Given the description of an element on the screen output the (x, y) to click on. 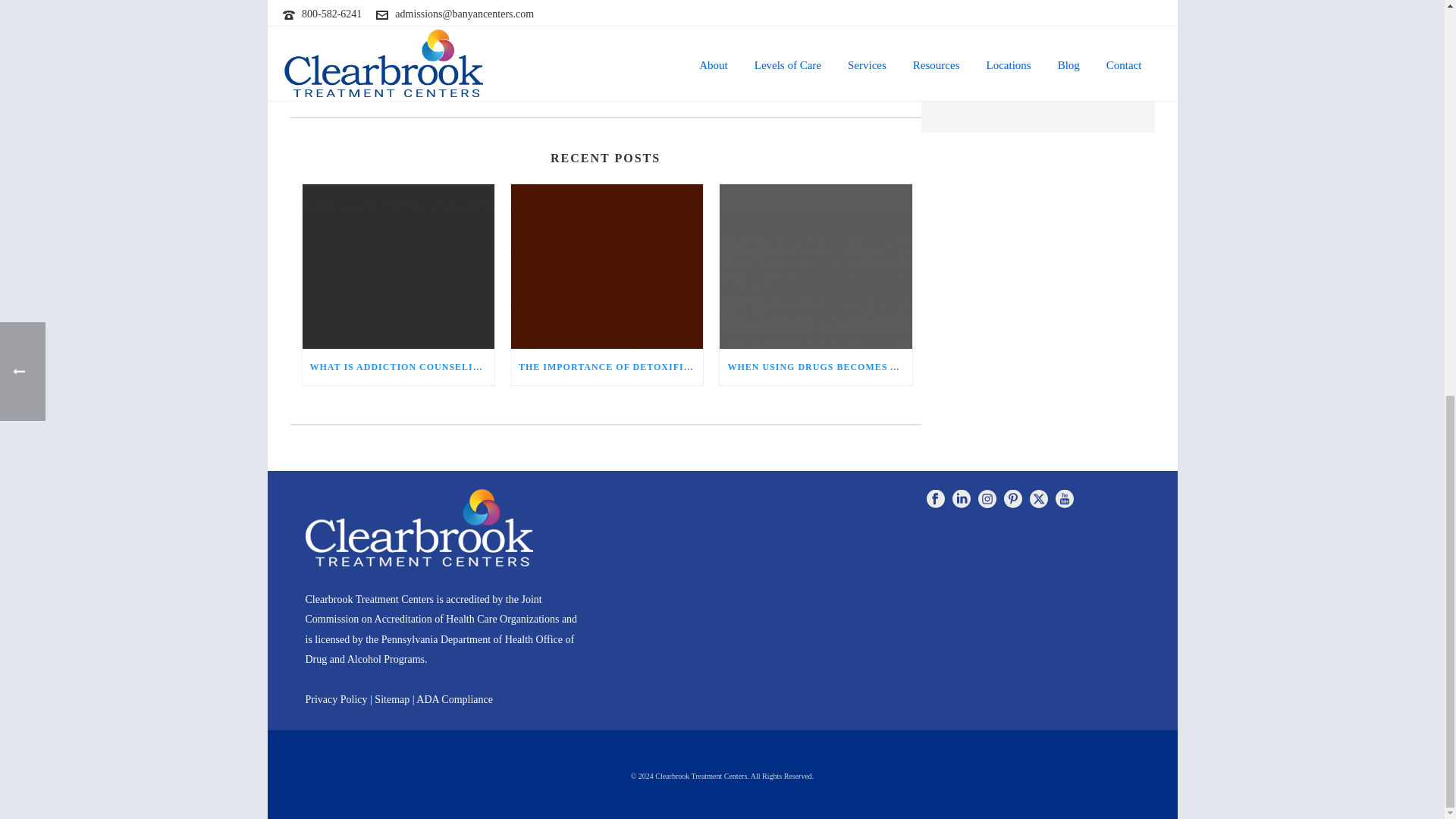
Get in touch with me via email (359, 90)
What is Addiction Counseling? (397, 266)
The Importance of Detoxification for Drug Rehabilitation (607, 266)
